Given the description of an element on the screen output the (x, y) to click on. 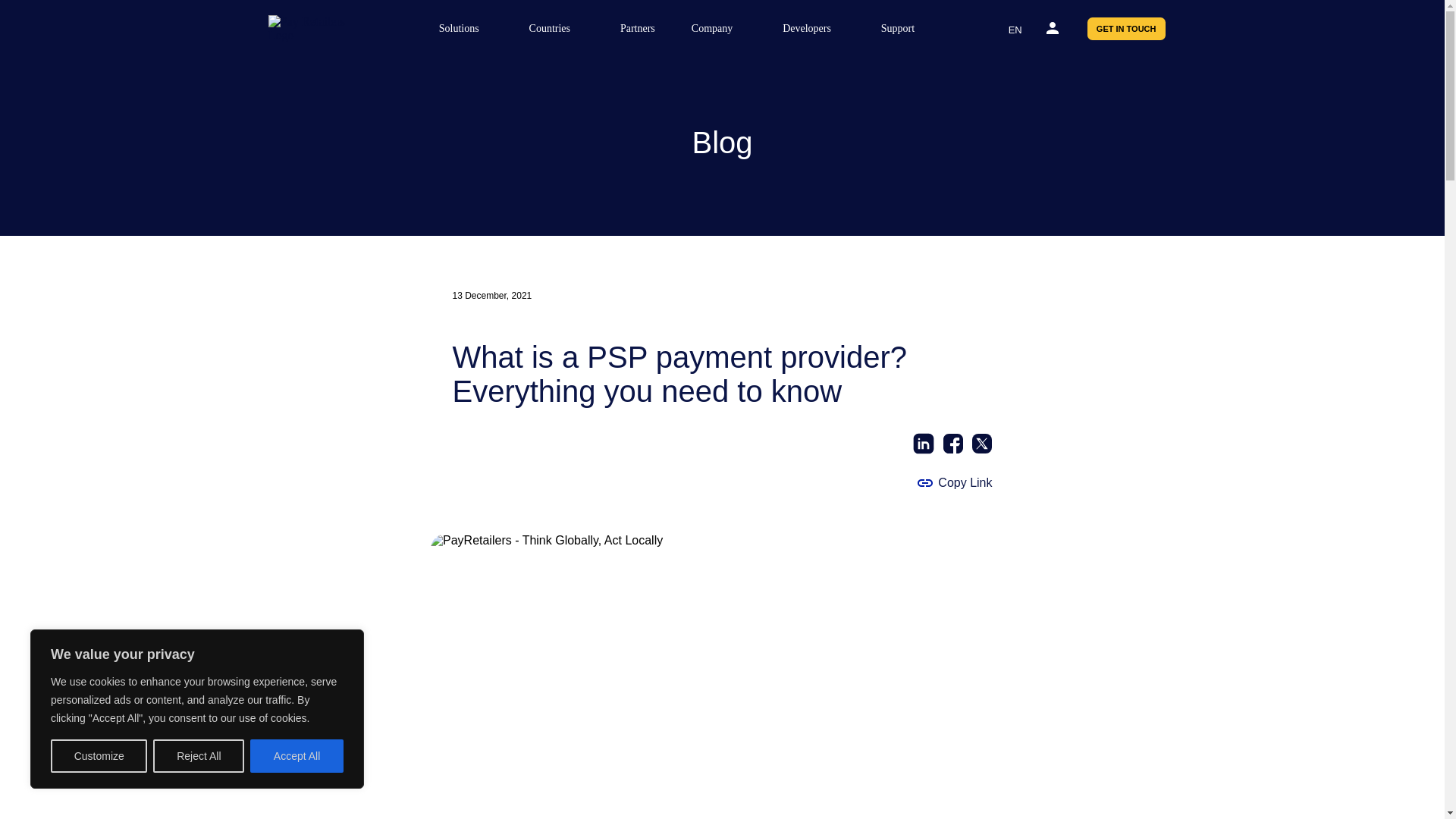
Reject All (198, 756)
Customize (98, 756)
Solutions (465, 28)
Share on LinkedIn (923, 444)
Twitter (982, 444)
Accept All (296, 756)
Countries (555, 28)
